Given the description of an element on the screen output the (x, y) to click on. 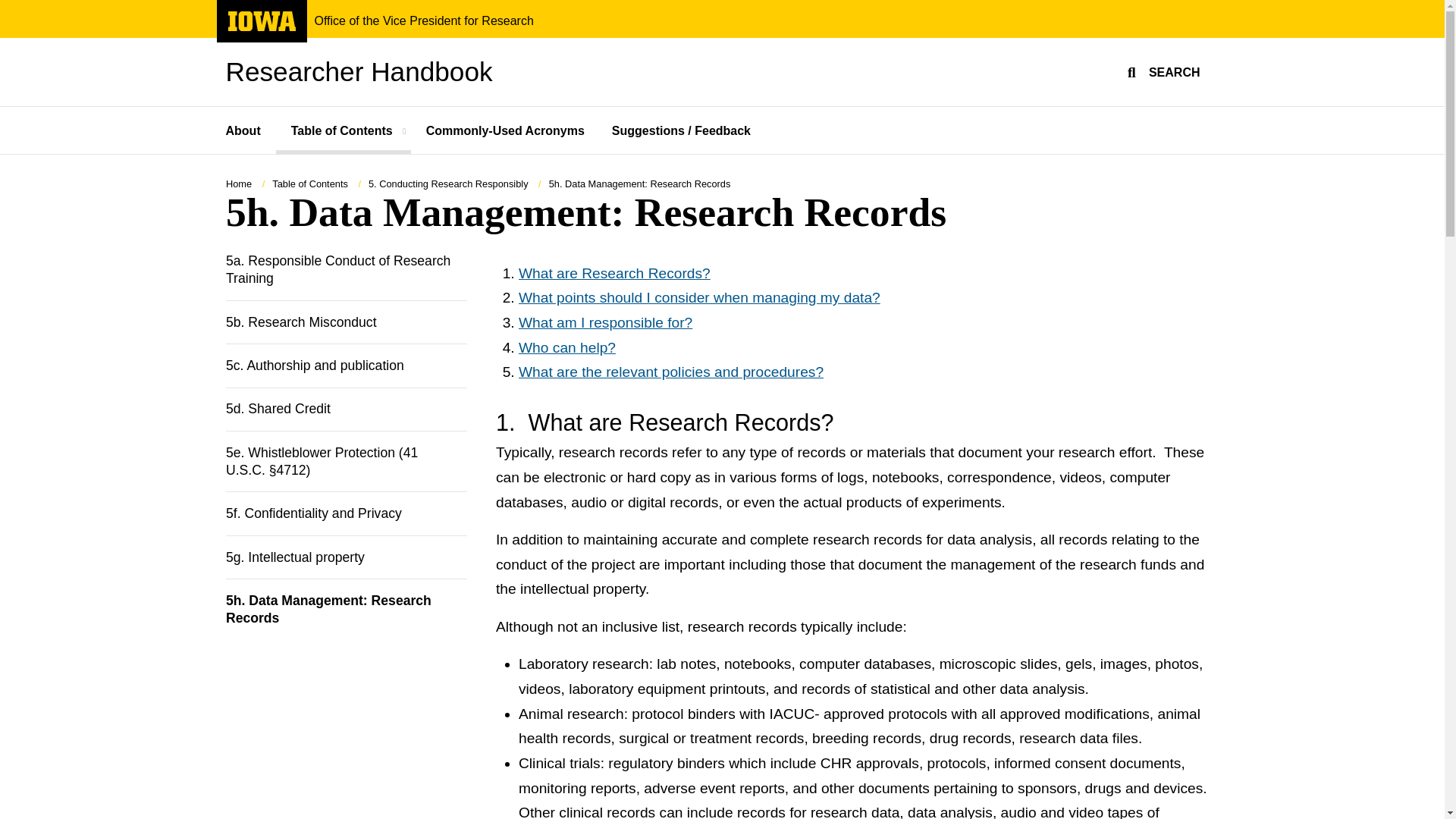
Skip to main content (7, 7)
Researcher Handbook (359, 71)
About (250, 130)
What are the relevant policies and procedures? (671, 371)
SEARCH (1162, 71)
University of Iowa (261, 21)
What points should I consider when managing my data? (699, 297)
What am I responsible for? (605, 322)
Who can help? (566, 346)
What are Research Records? (614, 273)
Office of the Vice President for Research (423, 20)
